Given the description of an element on the screen output the (x, y) to click on. 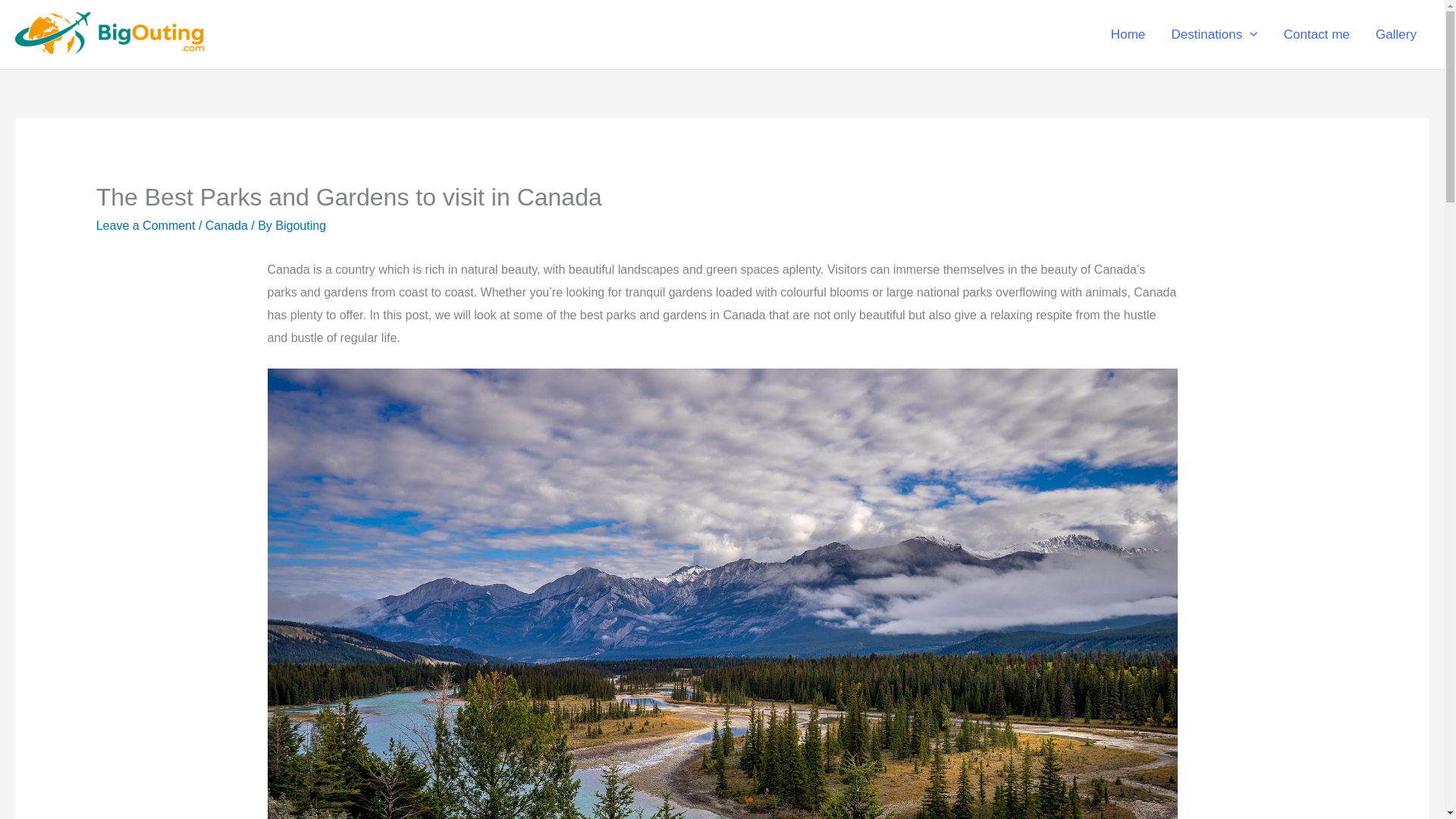
Home (1127, 34)
Contact me (1316, 34)
Gallery (1395, 34)
View all posts by Bigouting (300, 225)
Destinations (1213, 34)
